Given the description of an element on the screen output the (x, y) to click on. 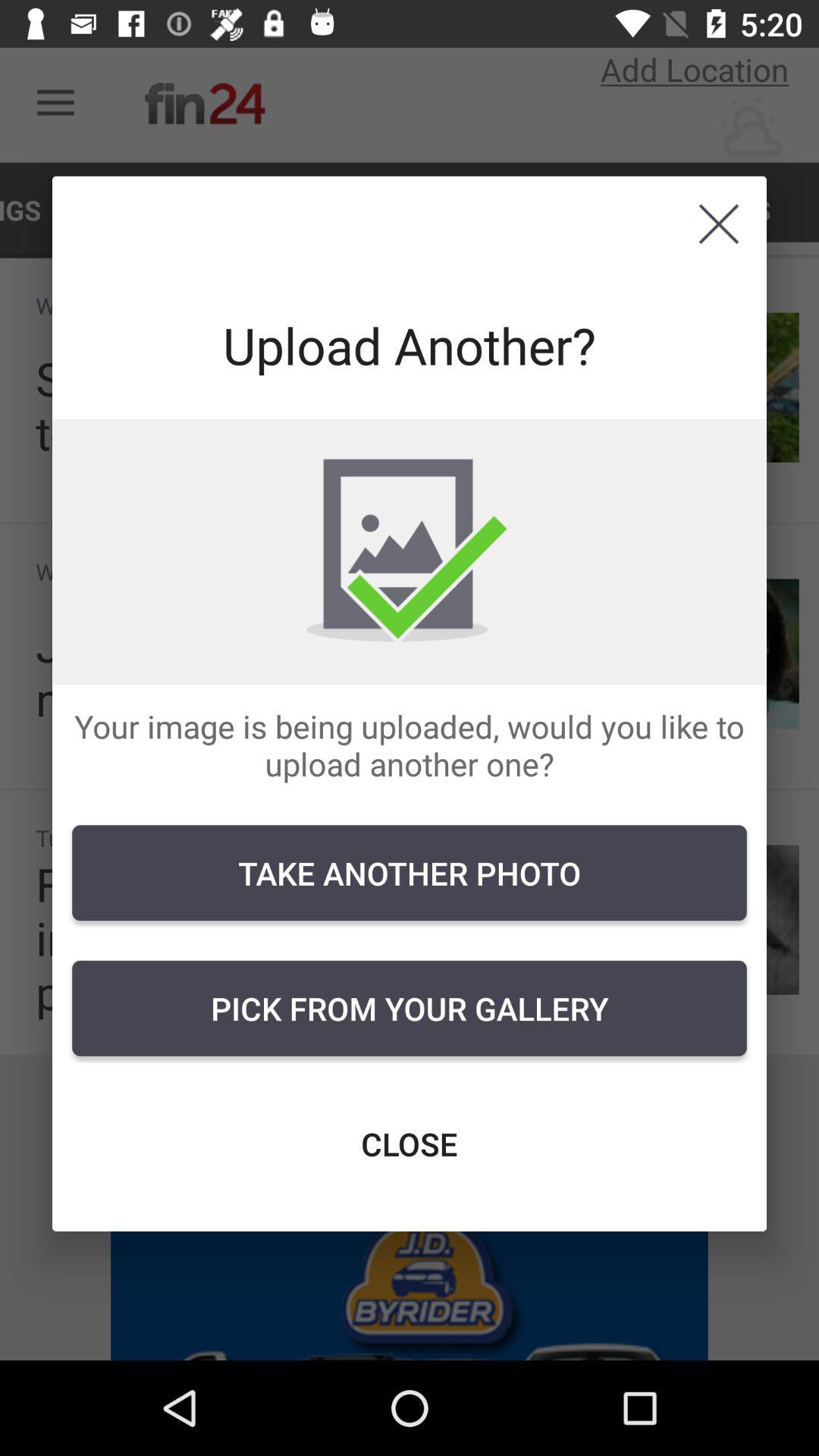
select the item below the your image is icon (409, 872)
